Given the description of an element on the screen output the (x, y) to click on. 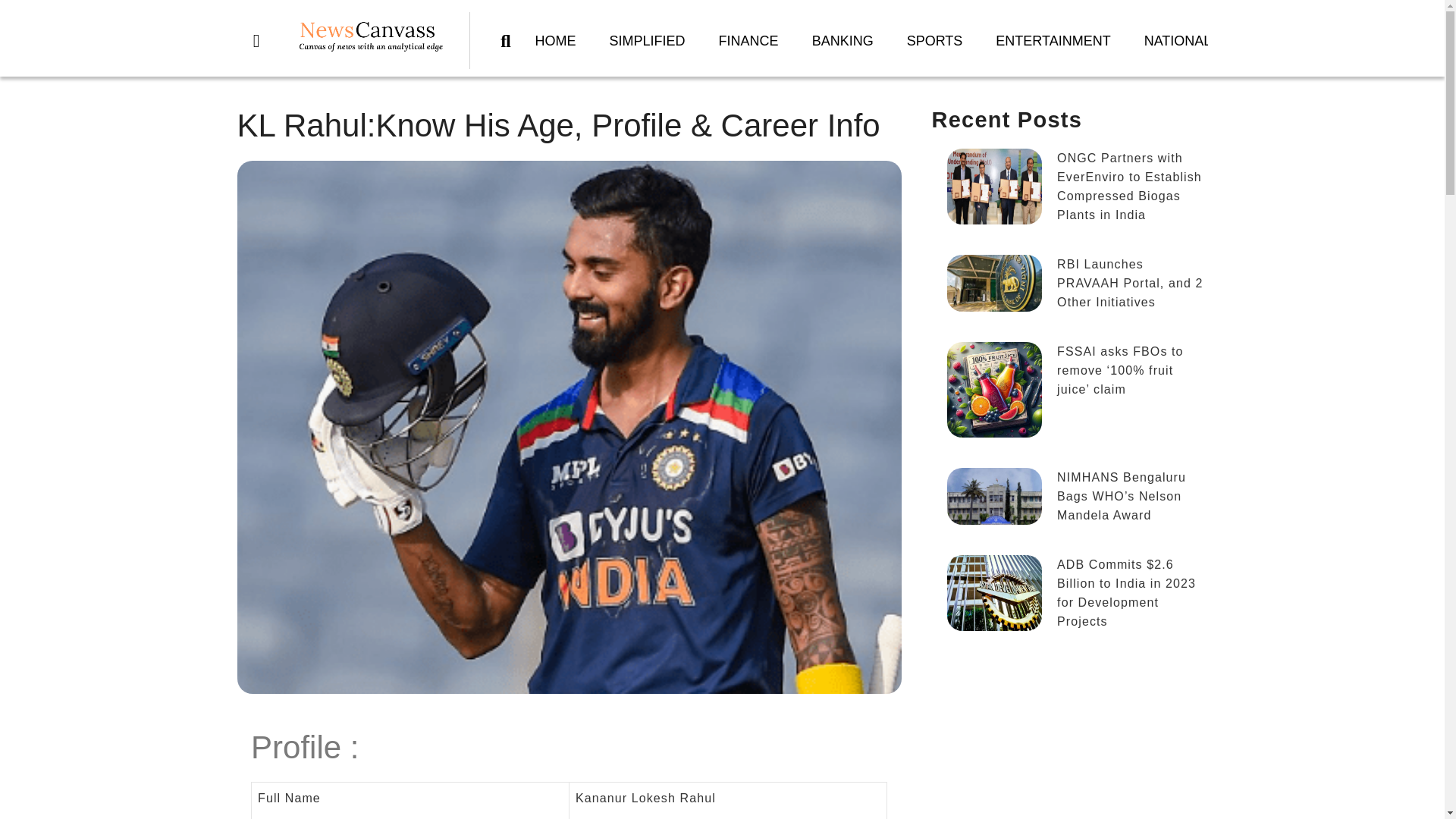
ENTERTAINMENT (1052, 40)
RBI Launches PRAVAAH Portal, and 2 Other Initiatives (1069, 290)
Search (497, 40)
SIMPLIFIED (646, 40)
SPORTS (934, 40)
FINANCE (747, 40)
HOME (555, 40)
NATIONAL (1177, 40)
BANKING (841, 40)
INTERNATIONAL (1298, 40)
